Given the description of an element on the screen output the (x, y) to click on. 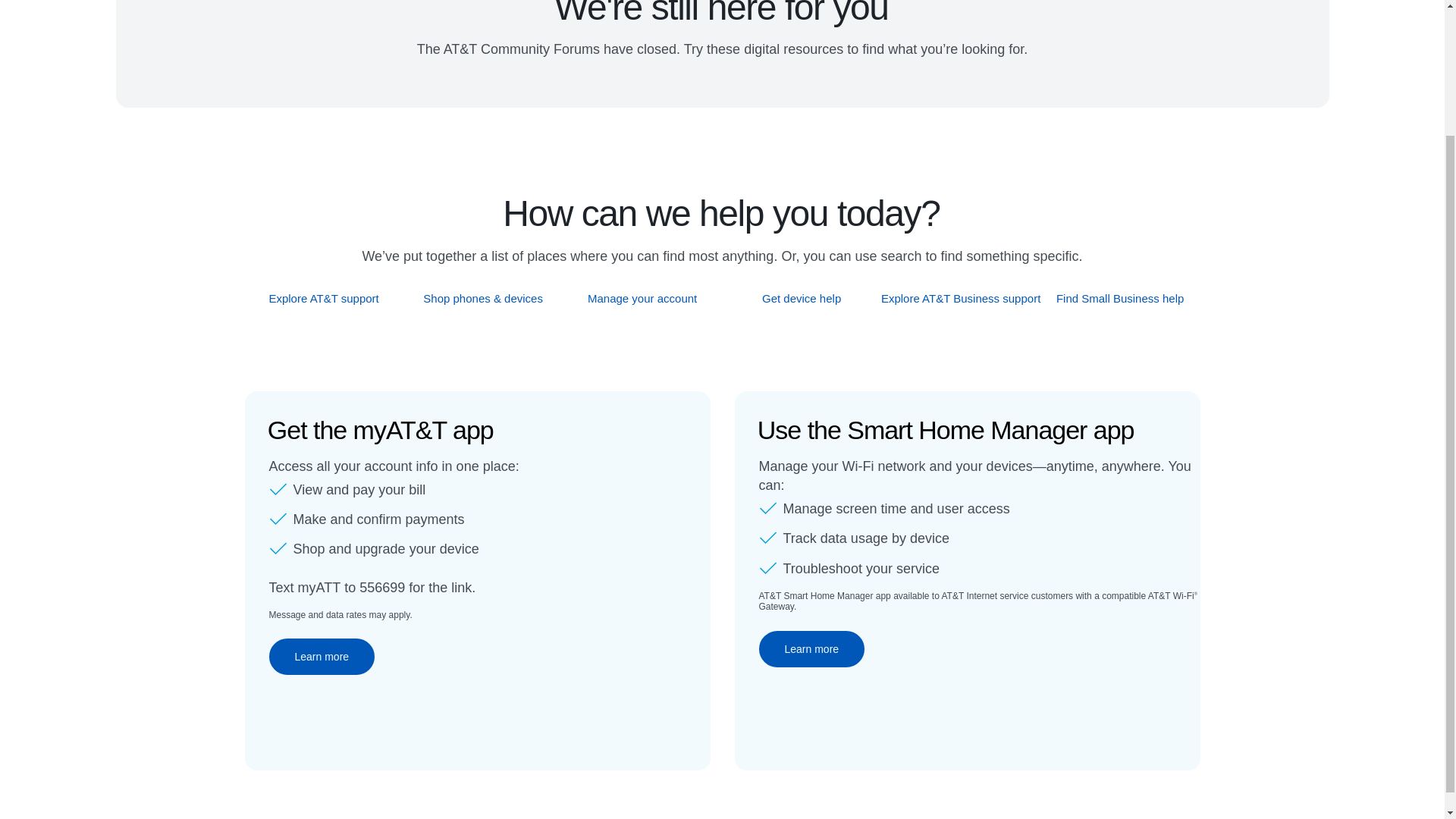
Learn more (320, 656)
Get device help (801, 298)
Manage your account (642, 298)
Learn more (811, 648)
Find Small Business help (1121, 298)
